Given the description of an element on the screen output the (x, y) to click on. 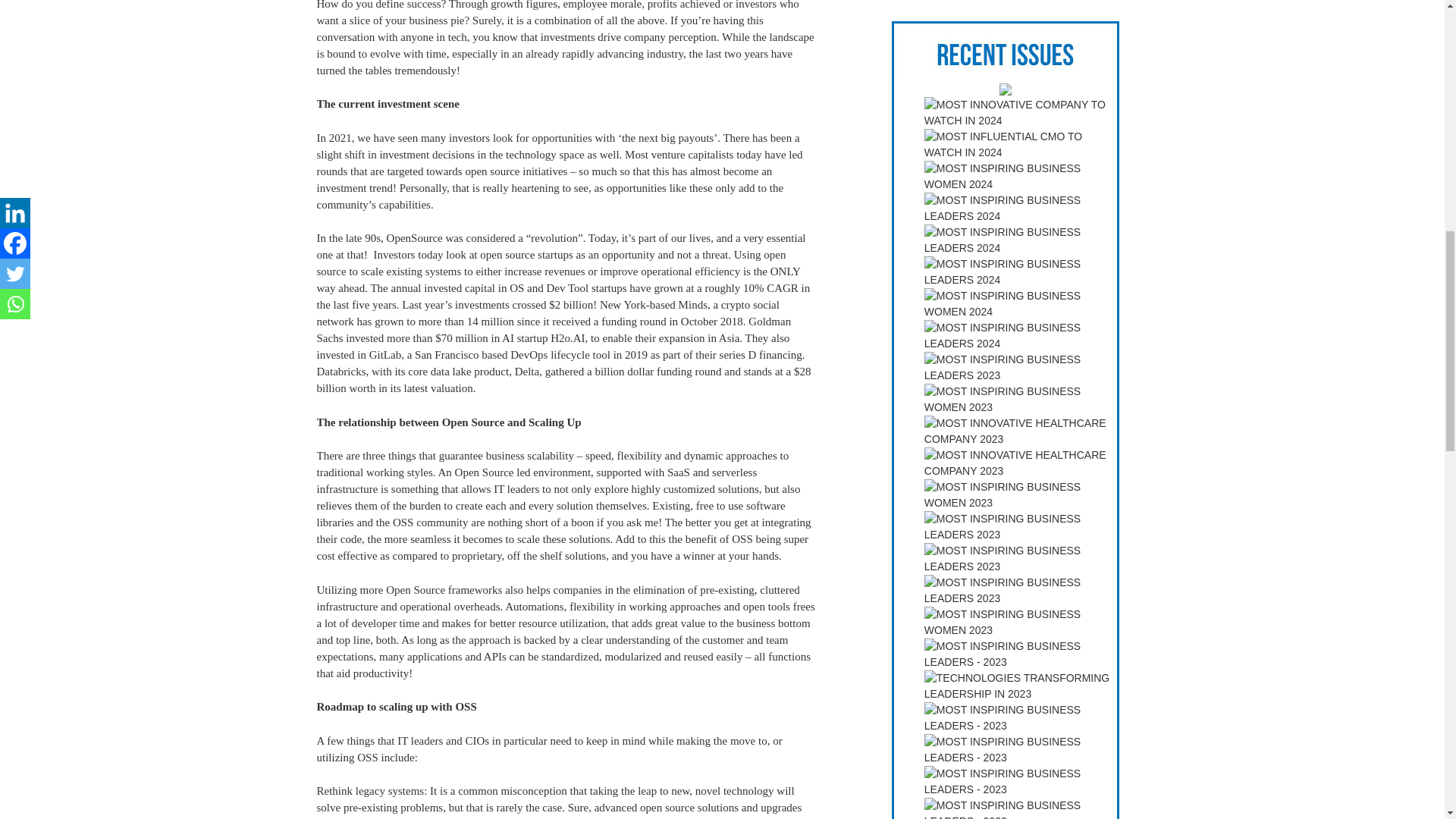
MOST INFLUENTIAL CMO TO WATCH IN 2024 (1020, 144)
MOST INNOVATIVE COMPANY TO WATCH IN 2024 (1020, 112)
MOST INSPIRING BUSINESS LEADERS 2024 (1020, 240)
MOST INSPIRING BUSINESS LEADERS 2024 (1020, 208)
MOST INSPIRING BUSINESS WOMEN 2024 (1020, 176)
MOST INSPIRING BUSINESS LEADERS 2024 (1020, 272)
